Given the description of an element on the screen output the (x, y) to click on. 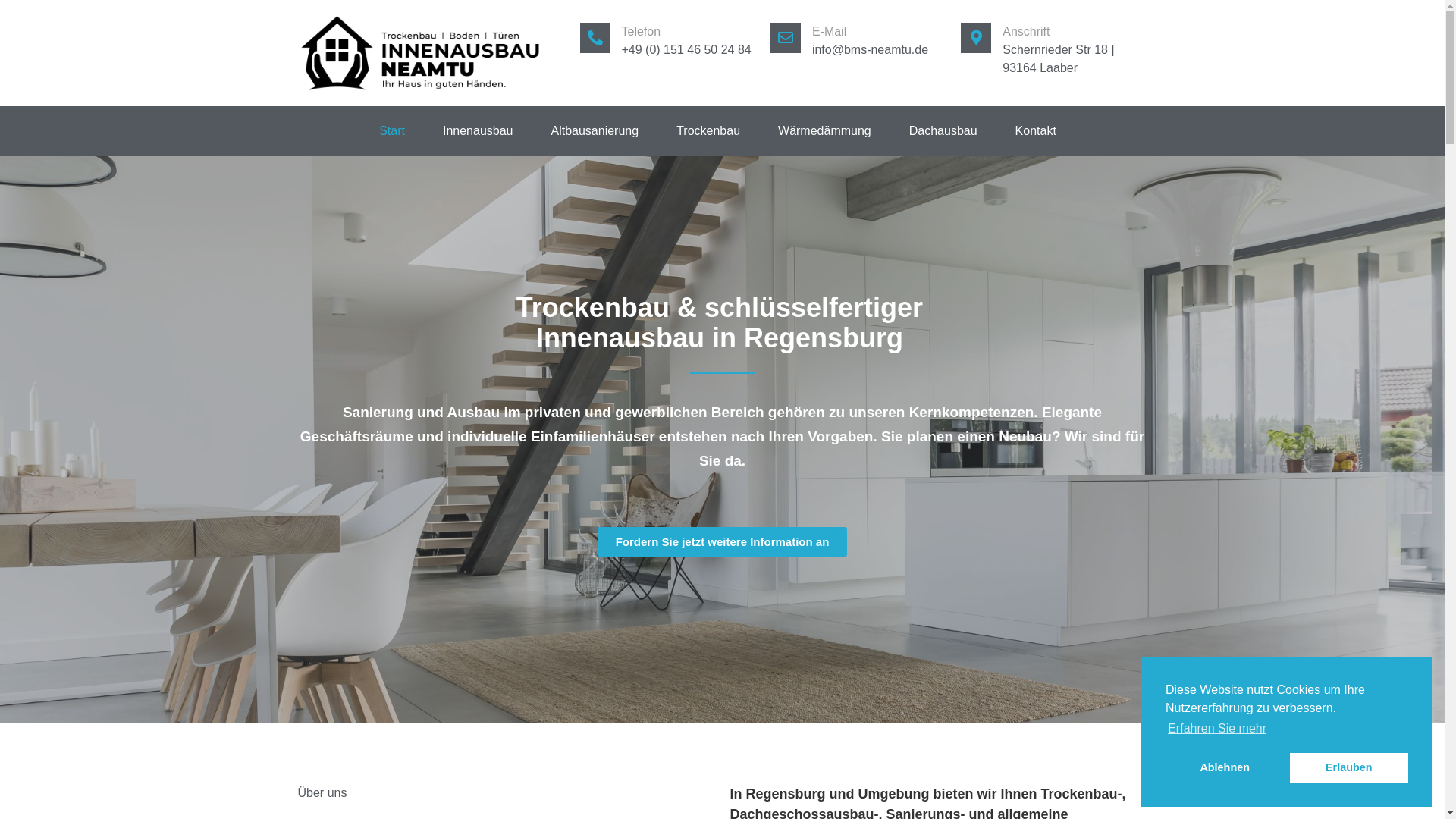
Erfahren Sie mehr Element type: text (1216, 728)
Altbausanierung Element type: text (594, 130)
E-Mail Element type: text (829, 31)
Ablehnen Element type: text (1224, 767)
Telefon Element type: text (641, 31)
Trockenbau Element type: text (708, 130)
Start Element type: text (391, 130)
Innenausbau Element type: text (477, 130)
Erlauben Element type: text (1348, 767)
Dachausbau Element type: text (943, 130)
Fordern Sie jetzt weitere Information an Element type: text (722, 541)
Kontakt Element type: text (1035, 130)
